Given the description of an element on the screen output the (x, y) to click on. 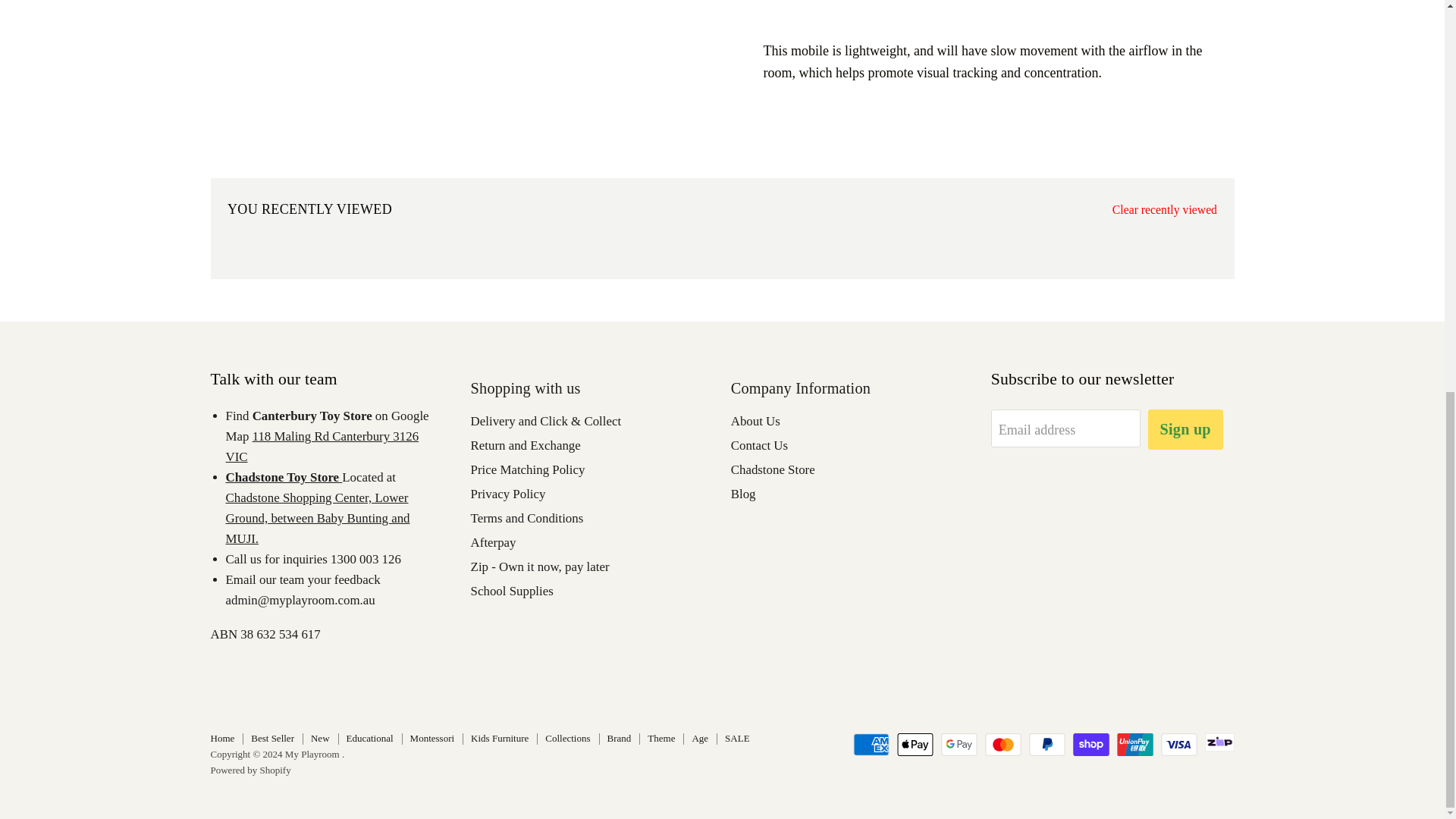
My Playroom Chadstone (283, 477)
PayPal (1047, 744)
My Playroom Chadstone (317, 518)
Google Pay (958, 744)
American Express (871, 744)
Mastercard (1003, 744)
Apple Pay (914, 744)
